Given the description of an element on the screen output the (x, y) to click on. 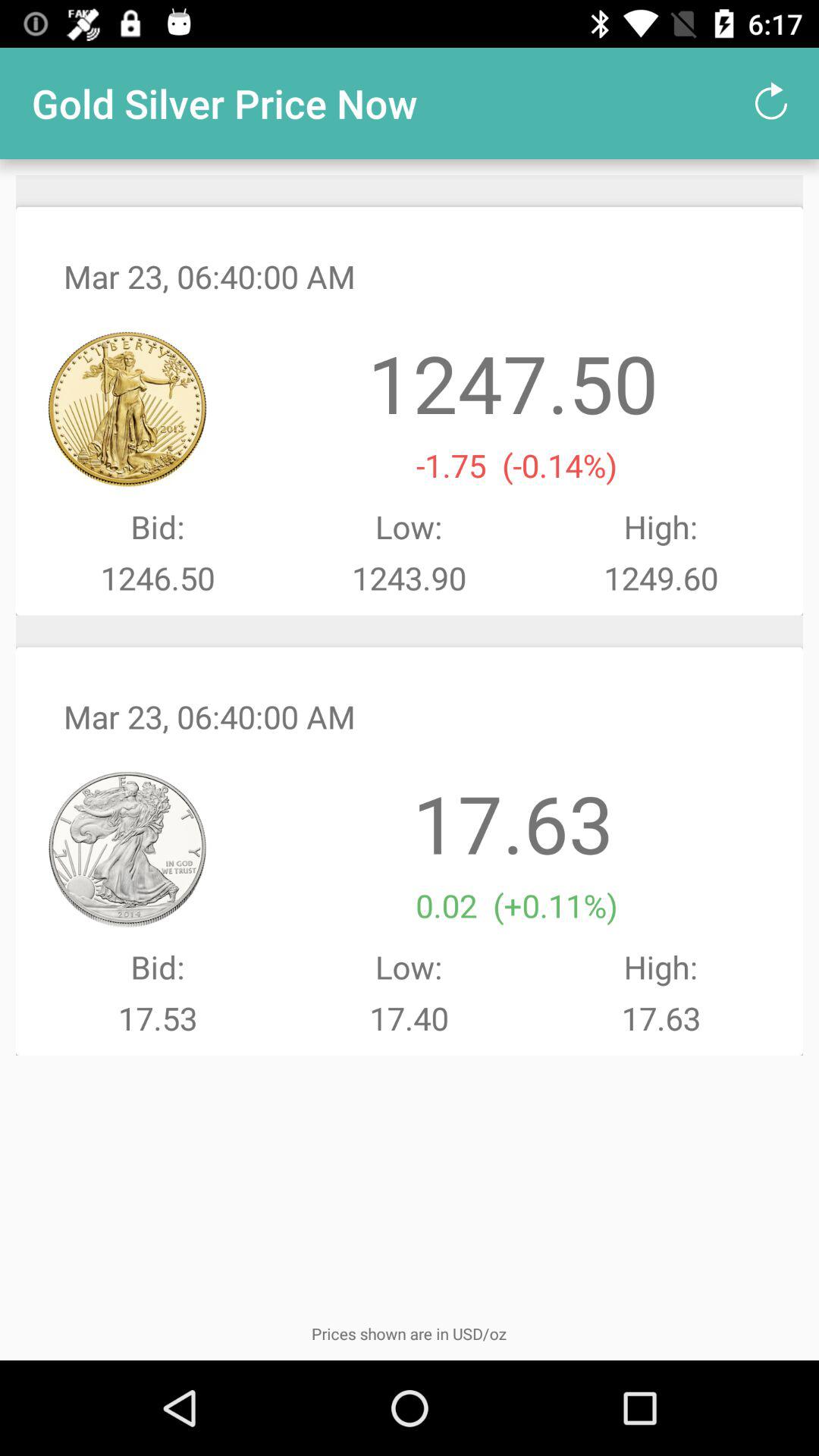
refresh prices (771, 103)
